Given the description of an element on the screen output the (x, y) to click on. 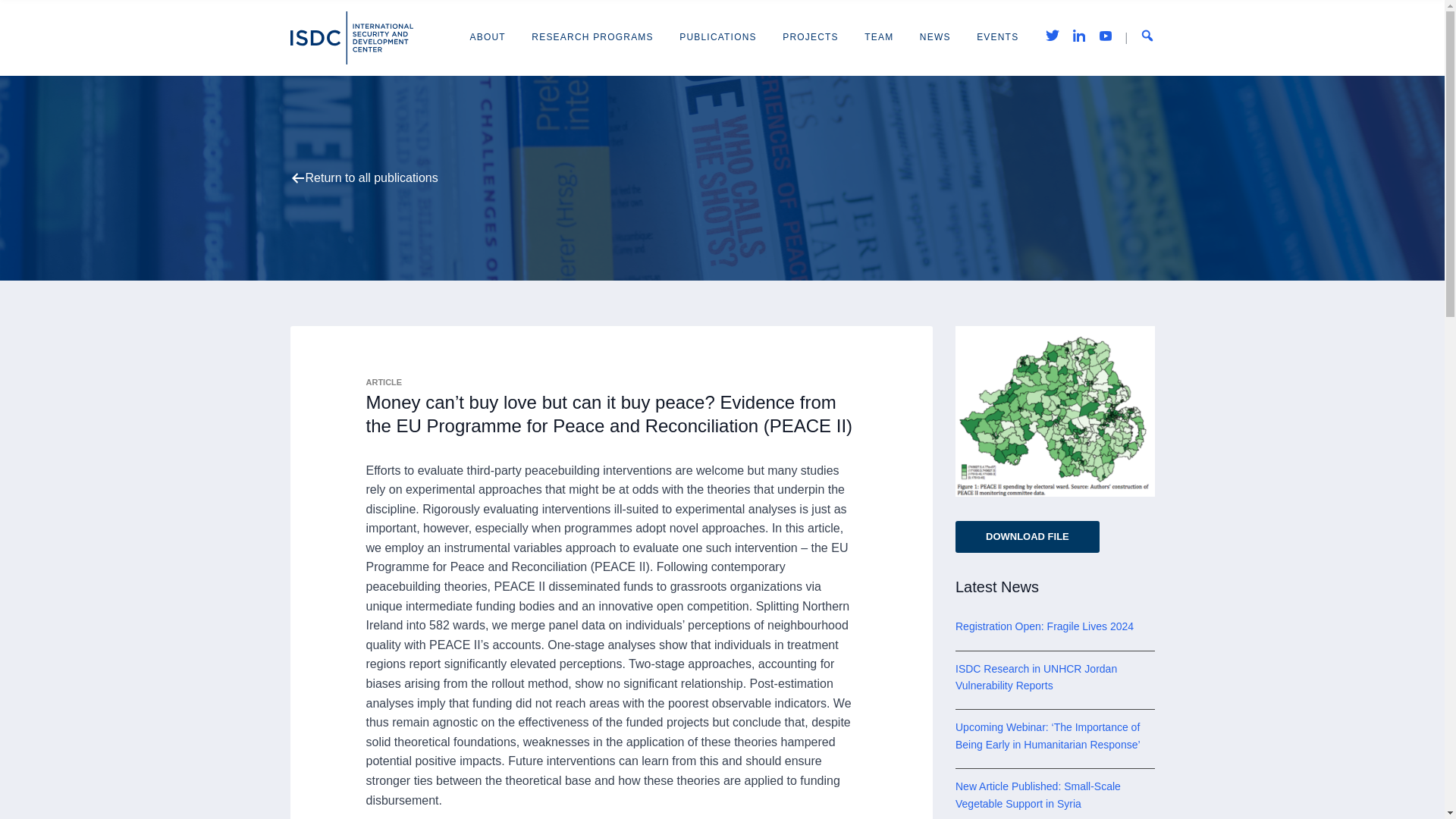
EVENTS (996, 37)
TEAM (878, 37)
Return to all publications (371, 177)
PUBLICATIONS (718, 37)
LinkedIn (1078, 37)
NEWS (935, 37)
Twitter (1052, 37)
ABOUT (487, 37)
PROJECTS (810, 37)
RESEARCH PROGRAMS (591, 37)
